Given the description of an element on the screen output the (x, y) to click on. 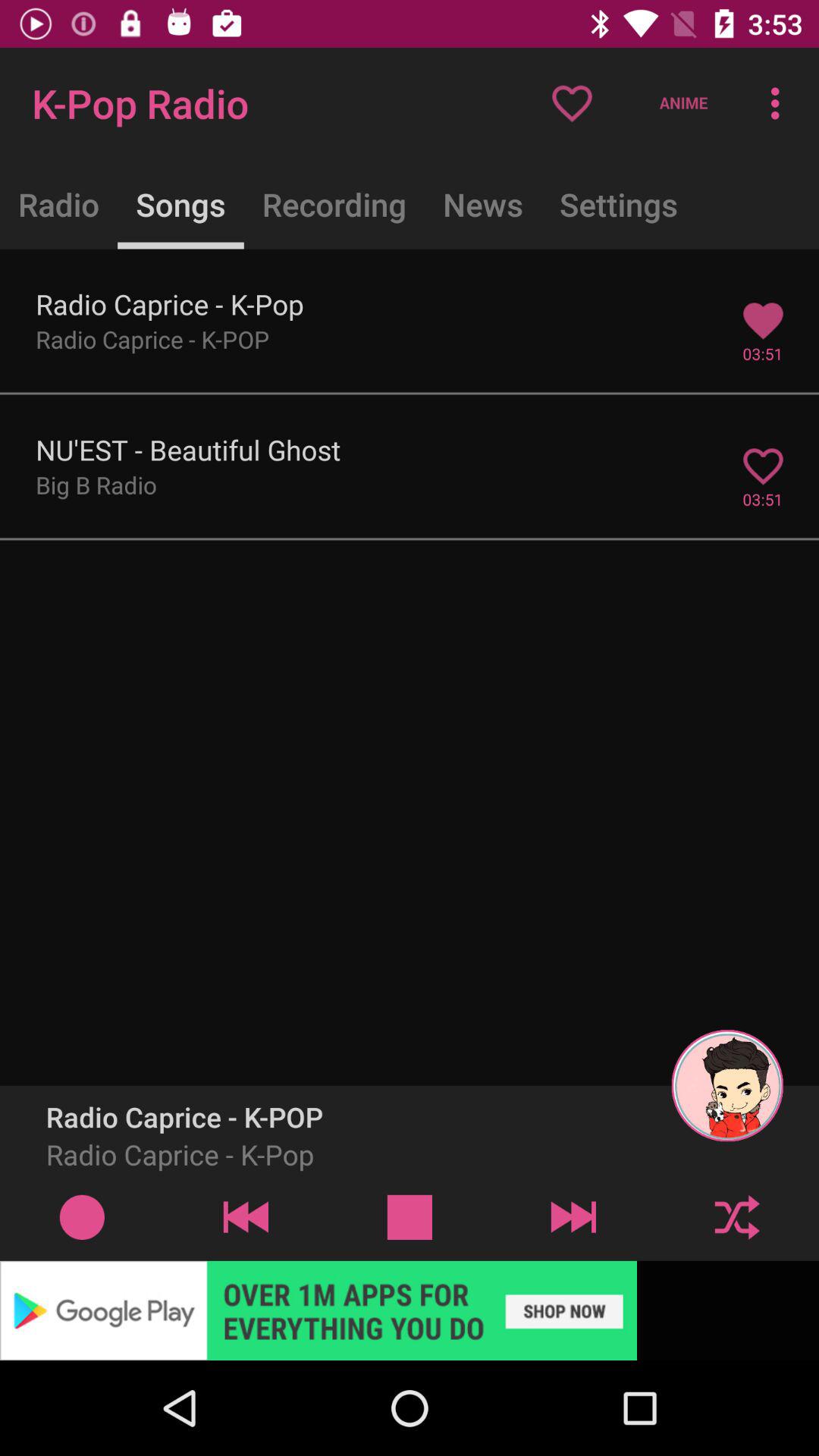
click on the shuffle option (737, 1216)
click the stop button on the web page (409, 1216)
select the image of the bottom right (726, 1085)
select three vertical dots at top right corner (779, 103)
select the forward button in between stop and shuffle buttons (573, 1216)
settings (618, 203)
click the heart (572, 103)
